Given the description of an element on the screen output the (x, y) to click on. 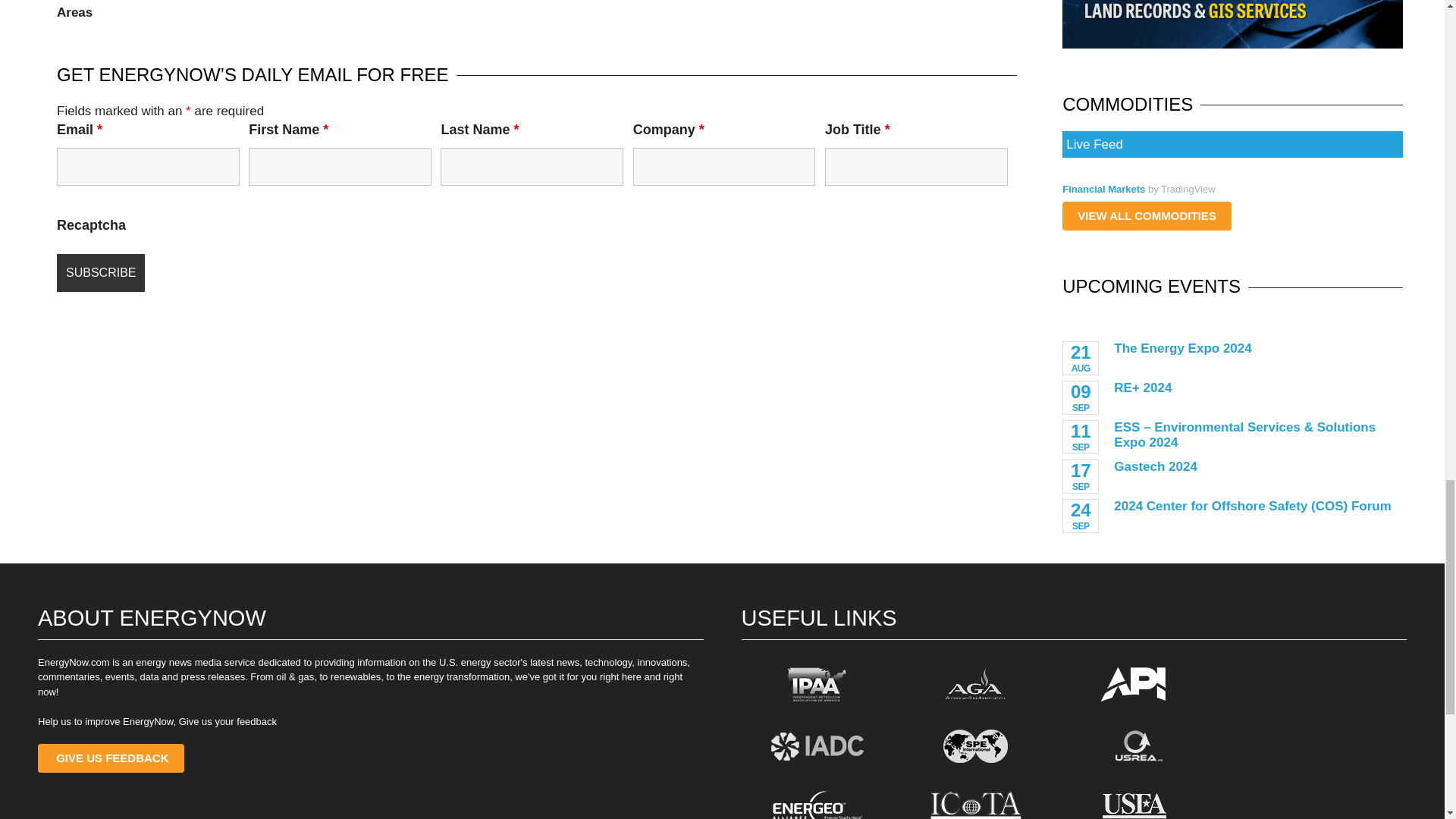
Subscribe (100, 272)
